Given the description of an element on the screen output the (x, y) to click on. 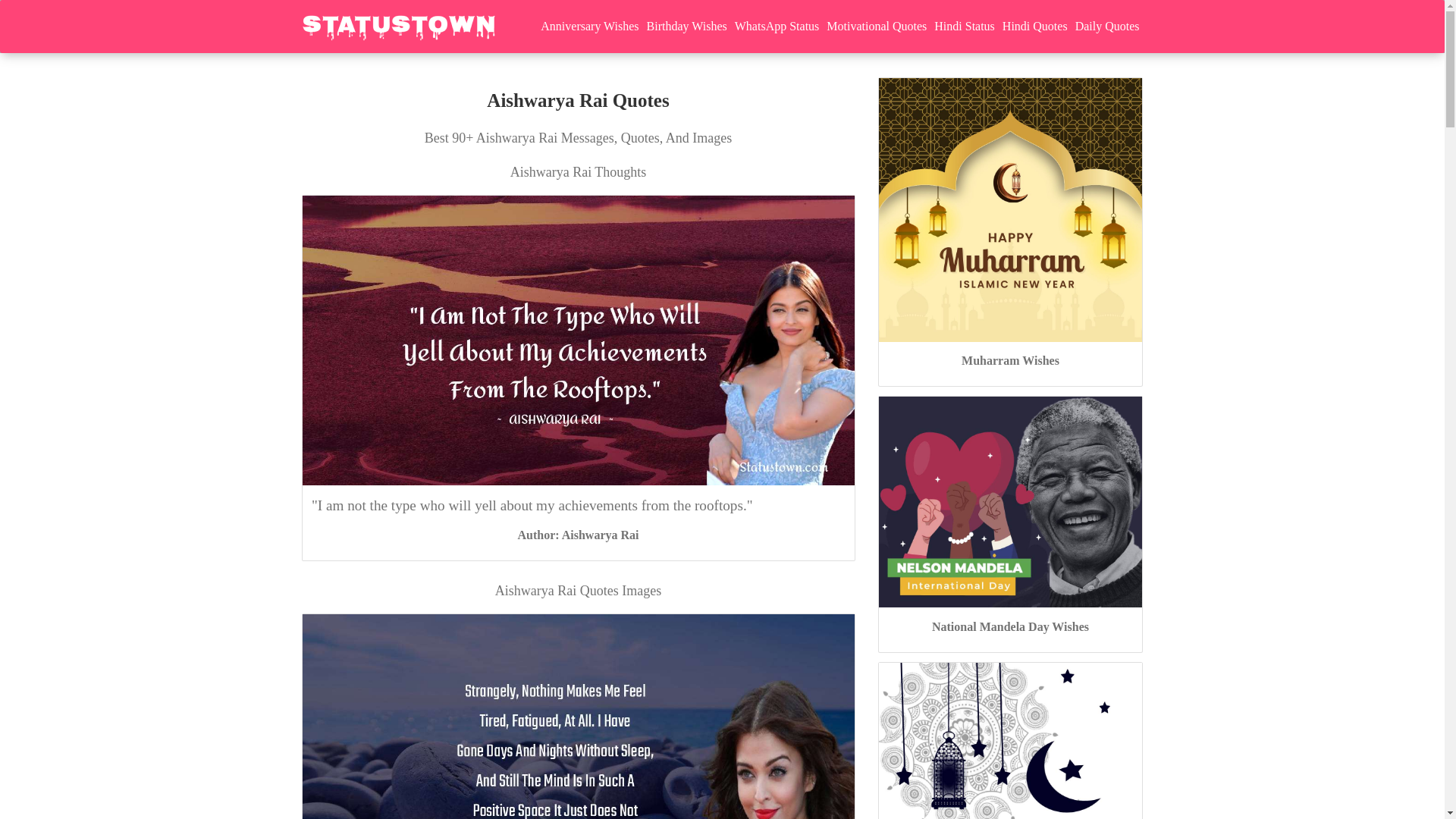
National Mandela Day Wishes (1010, 626)
National Mandela Day Wishes (1009, 500)
Muharram Wishes (1009, 359)
WhatsApp Status (777, 26)
Anniversary Wishes (589, 26)
Birthday Wishes (686, 26)
Hindi Status (964, 26)
Daily Quotes (1106, 26)
National Mandela Day Wishes (1010, 626)
Motivational Quotes (876, 26)
Muharram Wishes (1009, 208)
Muharram Wishes (1009, 359)
Hindi Quotes (1034, 26)
